Given the description of an element on the screen output the (x, y) to click on. 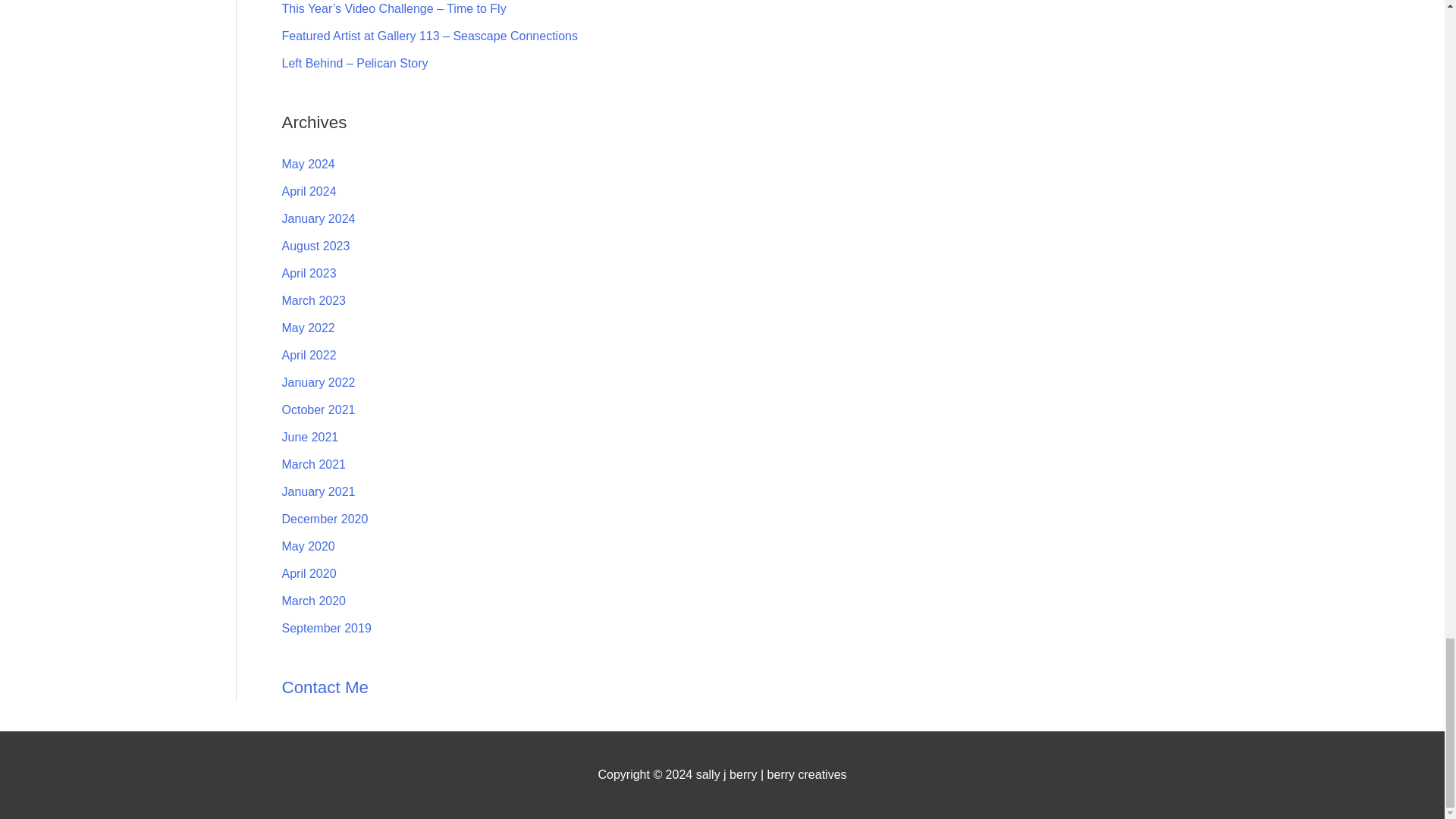
April 2022 (309, 354)
October 2021 (318, 409)
January 2022 (318, 382)
March 2020 (314, 600)
May 2022 (308, 327)
March 2023 (314, 300)
September 2019 (326, 627)
April 2020 (309, 573)
August 2023 (316, 245)
January 2021 (318, 491)
Contact Me (325, 687)
April 2024 (309, 191)
January 2024 (318, 218)
April 2023 (309, 273)
May 2024 (308, 164)
